Given the description of an element on the screen output the (x, y) to click on. 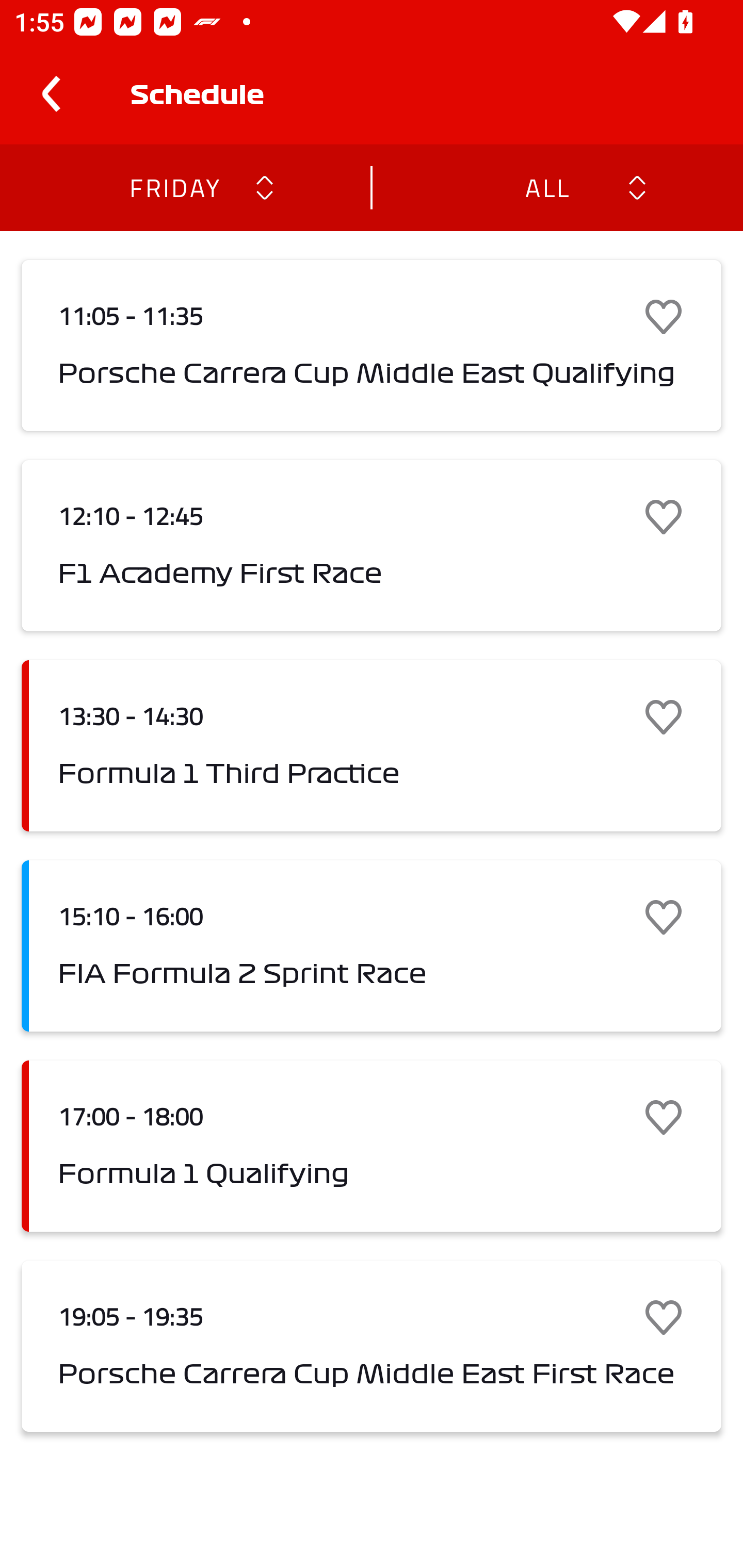
Navigate up (50, 93)
FRIDAY (174, 187)
ALL (546, 187)
12:10 - 12:45 F1 Academy First Race (371, 545)
13:30 - 14:30 Formula 1 Third Practice (371, 745)
15:10 - 16:00 FIA Formula 2 Sprint Race (371, 945)
17:00 - 18:00 Formula 1 Qualifying (371, 1145)
